Given the description of an element on the screen output the (x, y) to click on. 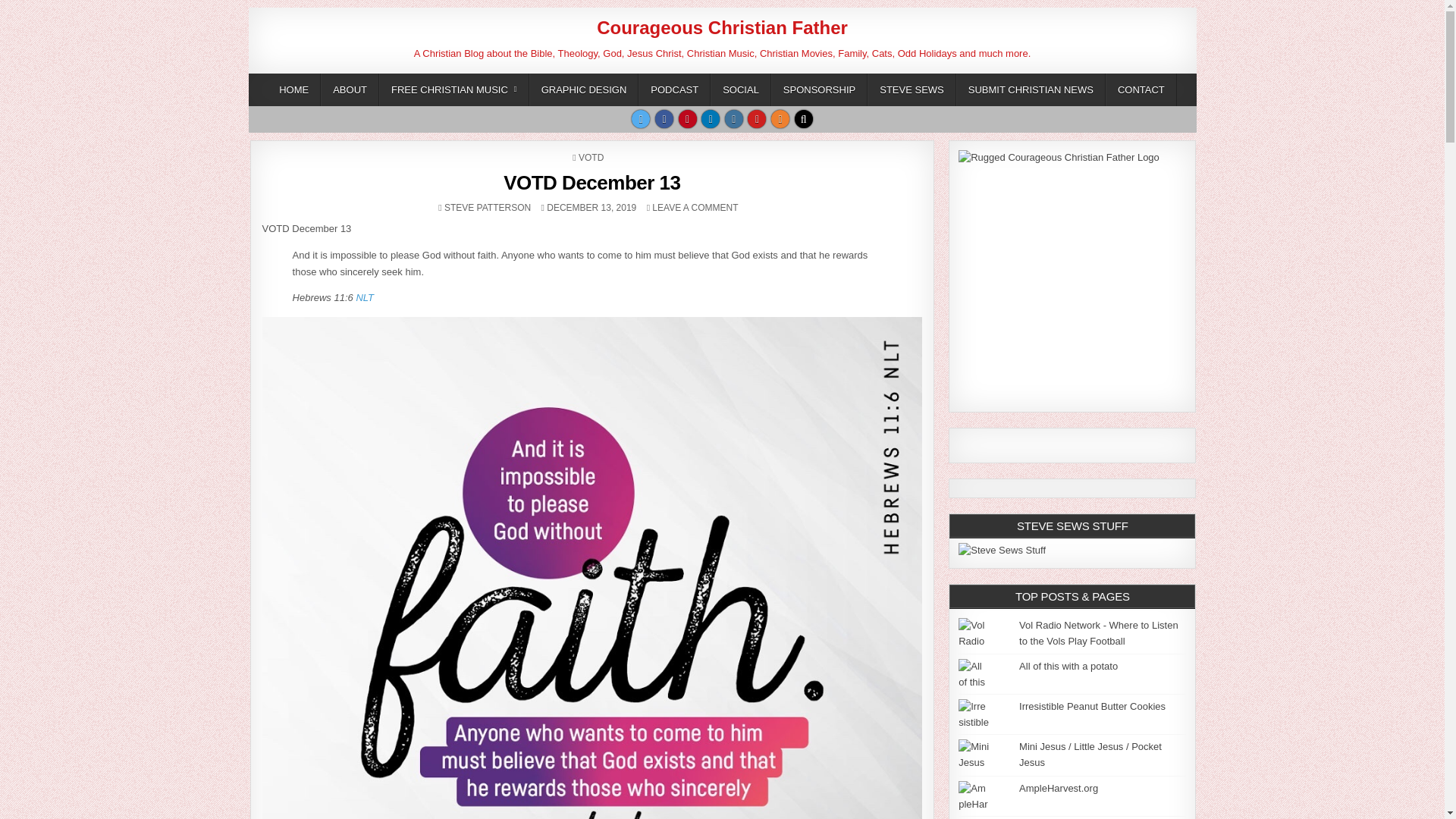
Facebook (663, 118)
SPONSORSHIP (819, 89)
Instagram (733, 118)
VOTD (591, 157)
CONTACT (1140, 89)
VOTD December 13 (591, 182)
NLT (487, 207)
Youtube (364, 297)
PODCAST (756, 118)
